Given the description of an element on the screen output the (x, y) to click on. 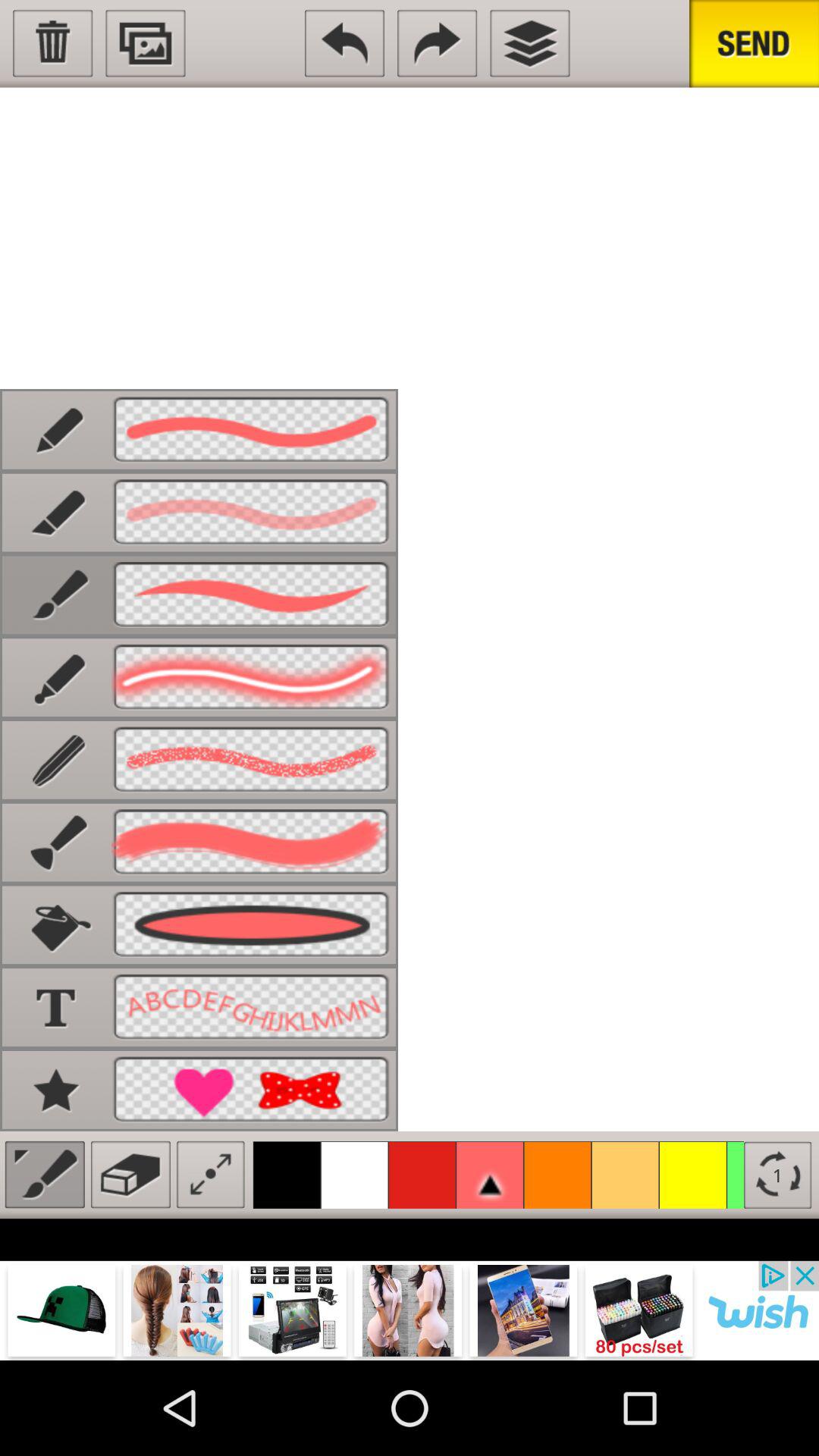
paint brush (44, 1174)
